Given the description of an element on the screen output the (x, y) to click on. 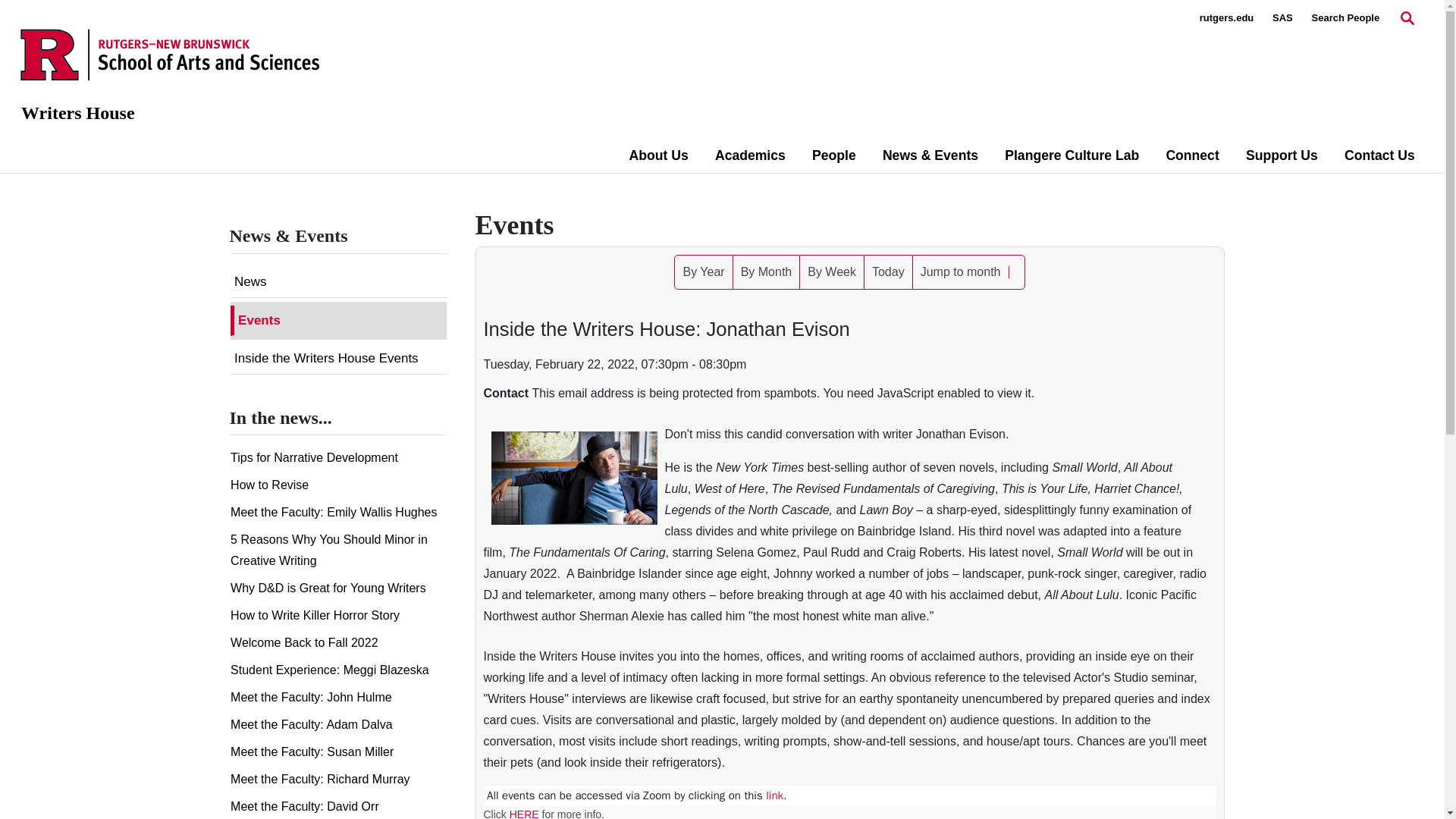
Support Us (1281, 155)
By Year (703, 272)
Today (888, 272)
Academics (750, 155)
Plangere Culture Lab (1071, 155)
By Month (766, 272)
About Us (658, 155)
Connect (1192, 155)
Jump to month (960, 272)
Writers House (78, 112)
